Given the description of an element on the screen output the (x, y) to click on. 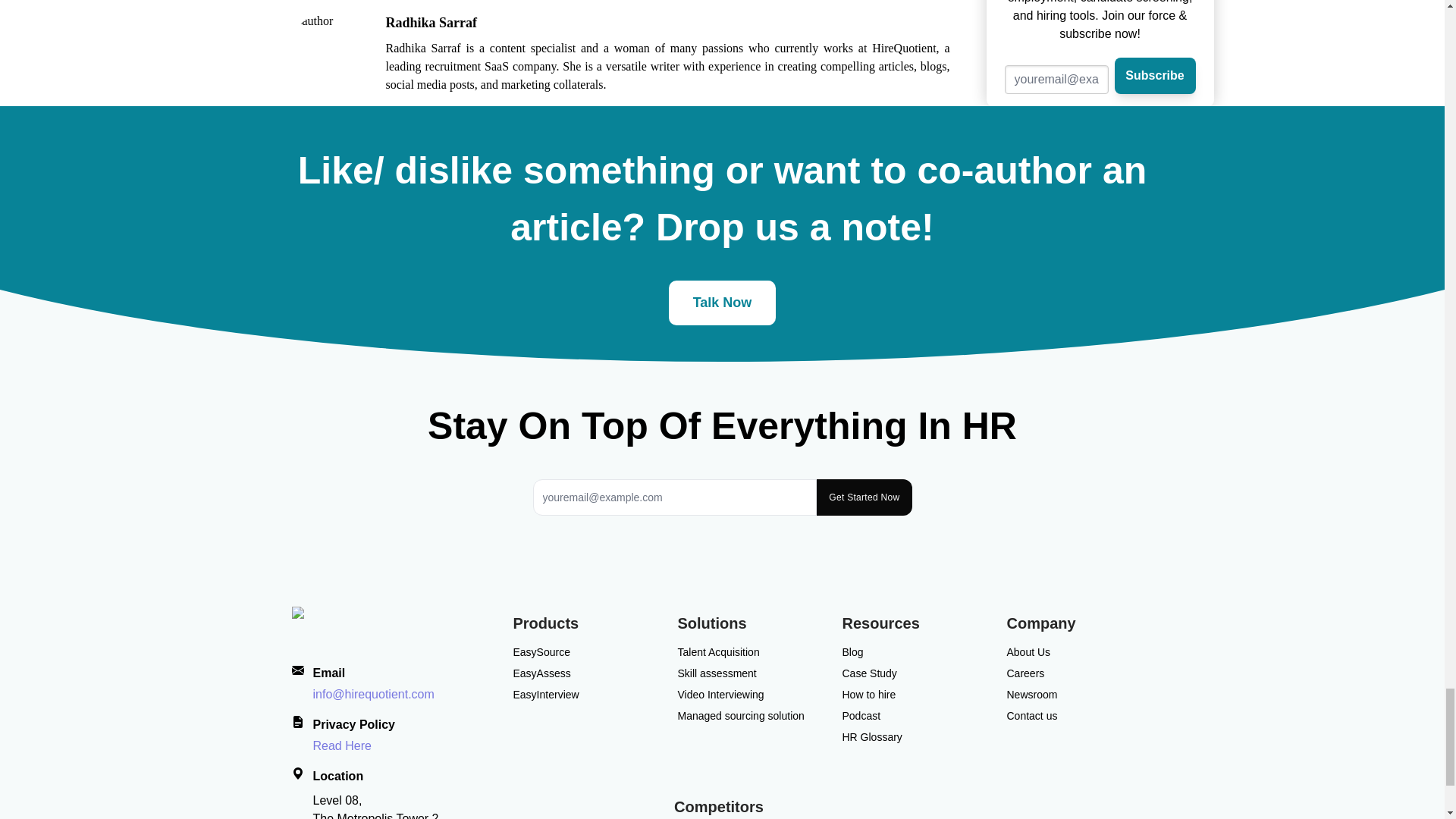
EasyAssess (541, 672)
About Us (1029, 652)
Get Started Now (863, 497)
Talent Acquisition (719, 652)
Managed sourcing solution (741, 715)
Skill assessment (717, 672)
Newsroom (1032, 694)
HR Glossary (871, 736)
Talk Now (722, 302)
Contact us (1032, 715)
